Given the description of an element on the screen output the (x, y) to click on. 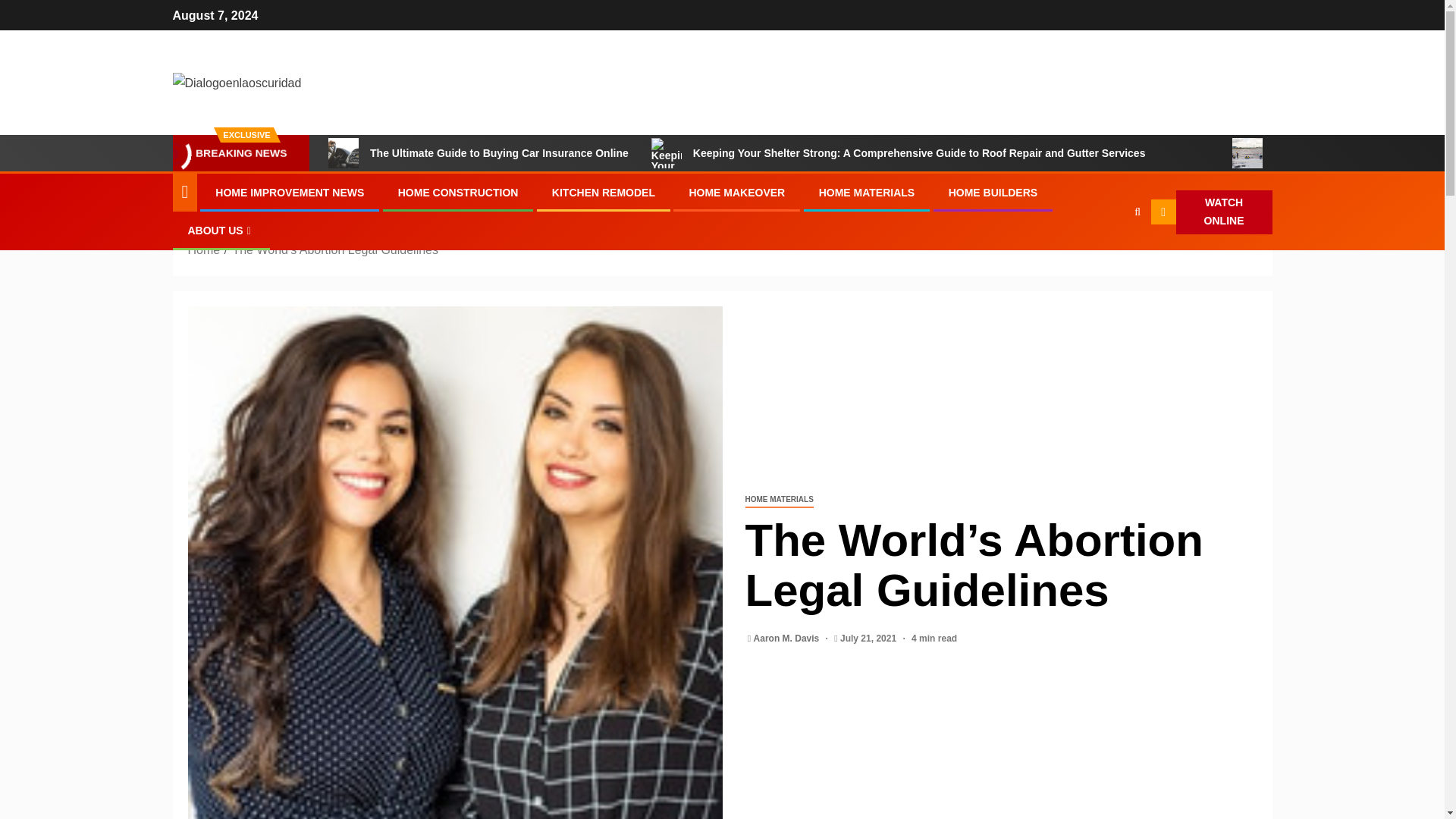
HOME BUILDERS (992, 192)
HOME MATERIALS (778, 499)
Search (1107, 258)
Home (204, 249)
Aaron M. Davis (788, 638)
WATCH ONLINE (1211, 212)
HOME CONSTRUCTION (457, 192)
The Ultimate Guide to Buying Car Insurance Online (343, 153)
HOME MATERIALS (866, 192)
HOME IMPROVEMENT NEWS (289, 192)
ABOUT US (220, 230)
KITCHEN REMODEL (603, 192)
HOME MAKEOVER (736, 192)
